Given the description of an element on the screen output the (x, y) to click on. 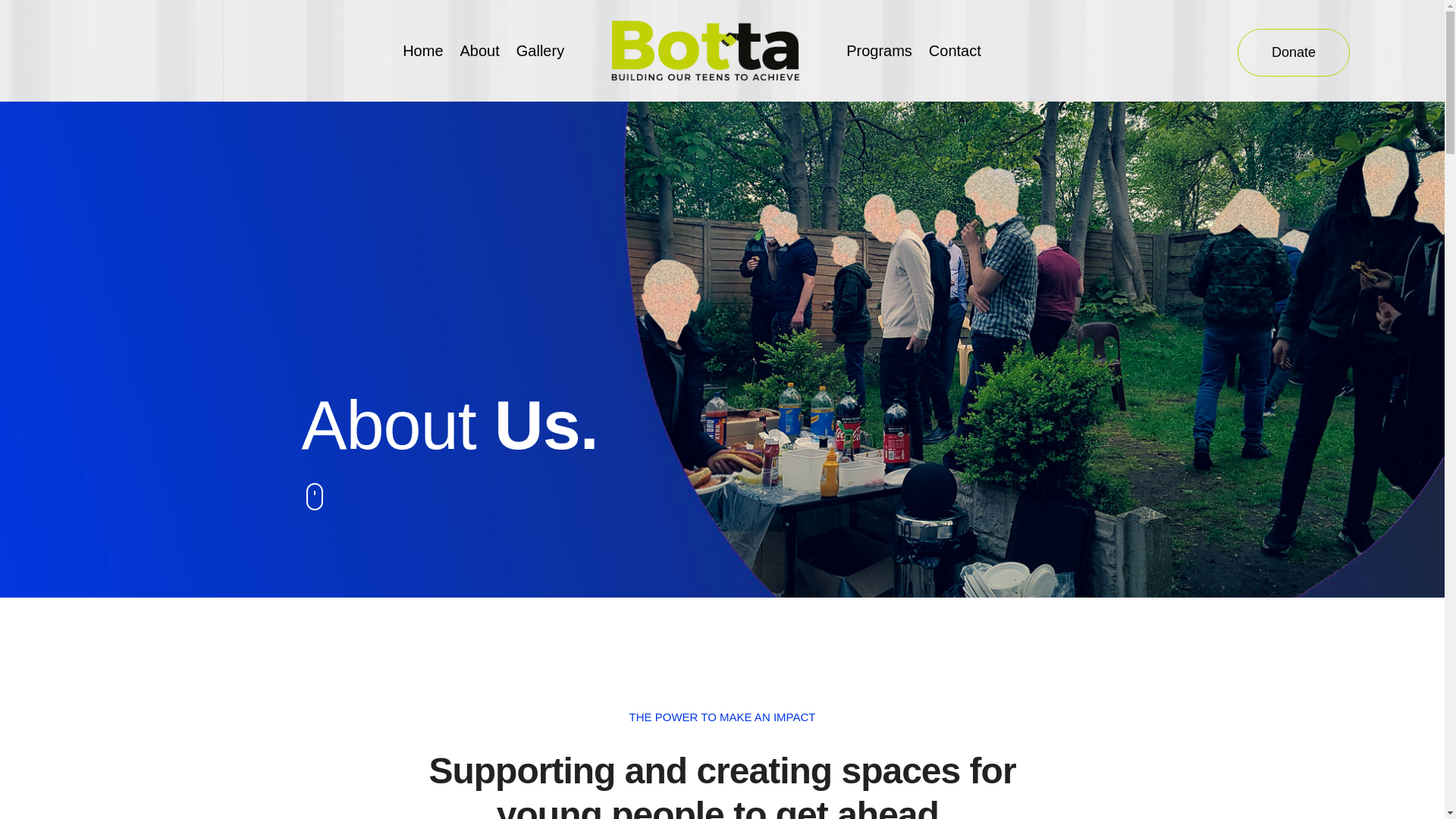
Donate (1293, 52)
Programs (878, 50)
